Given the description of an element on the screen output the (x, y) to click on. 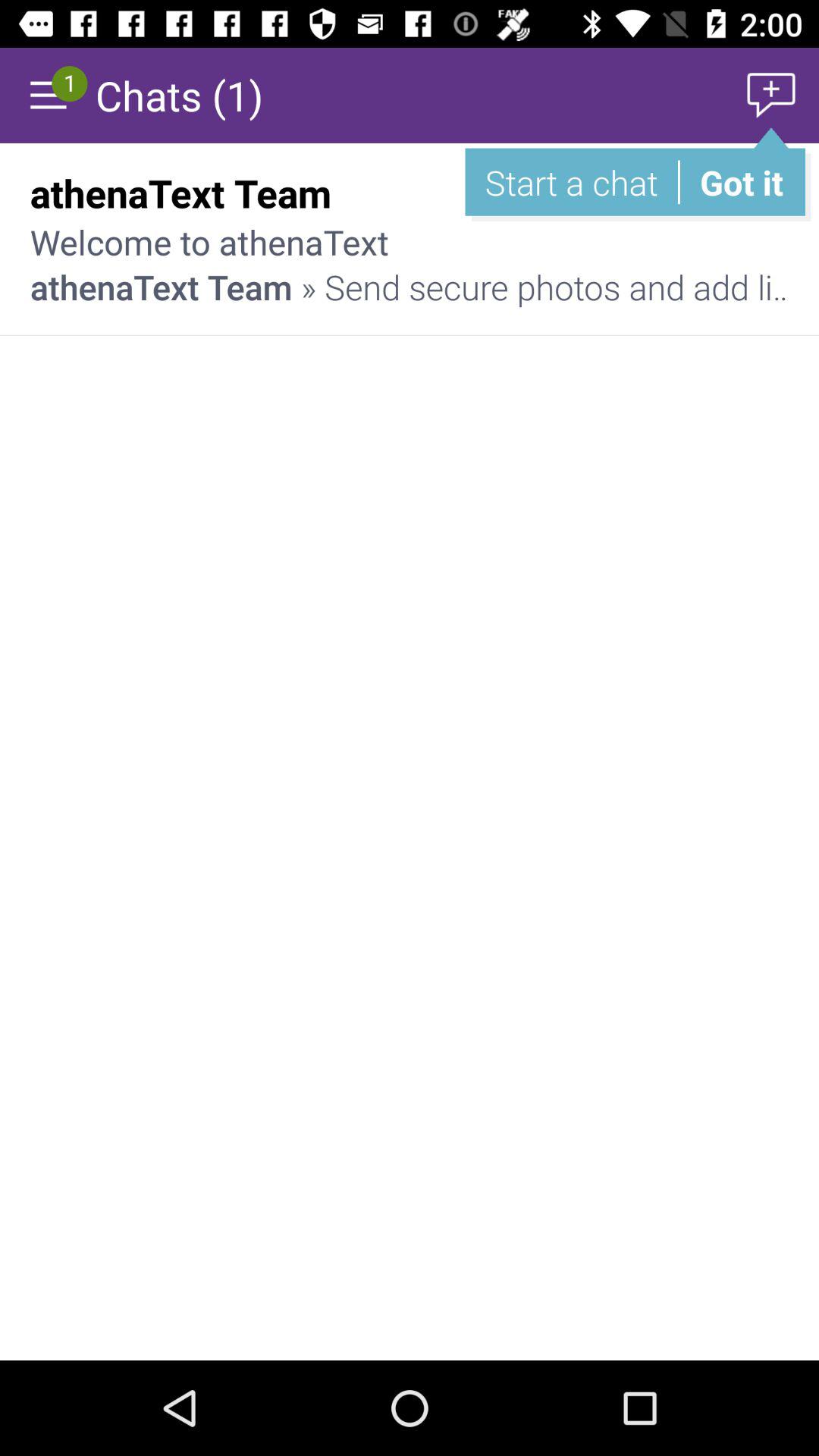
select 1:59 am item (735, 192)
